Given the description of an element on the screen output the (x, y) to click on. 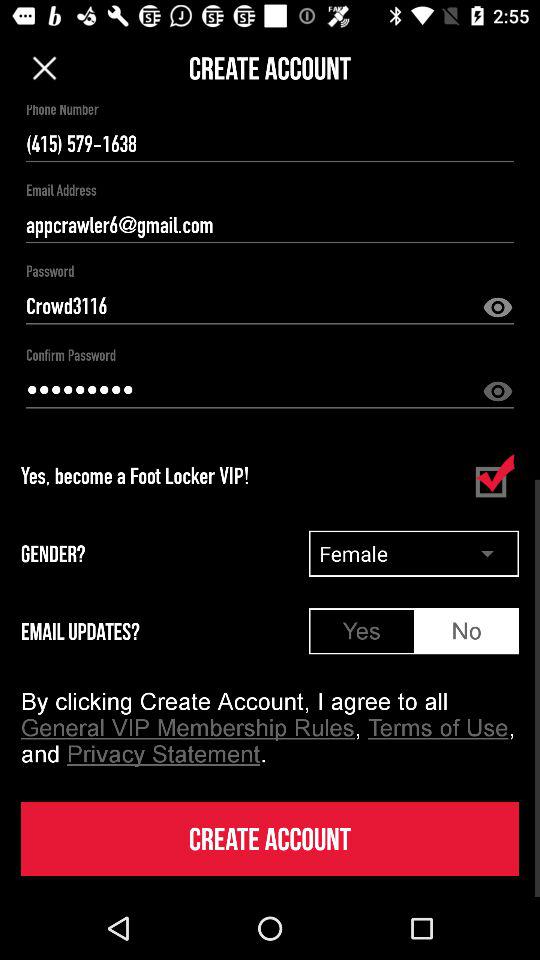
for vision (498, 392)
